Given the description of an element on the screen output the (x, y) to click on. 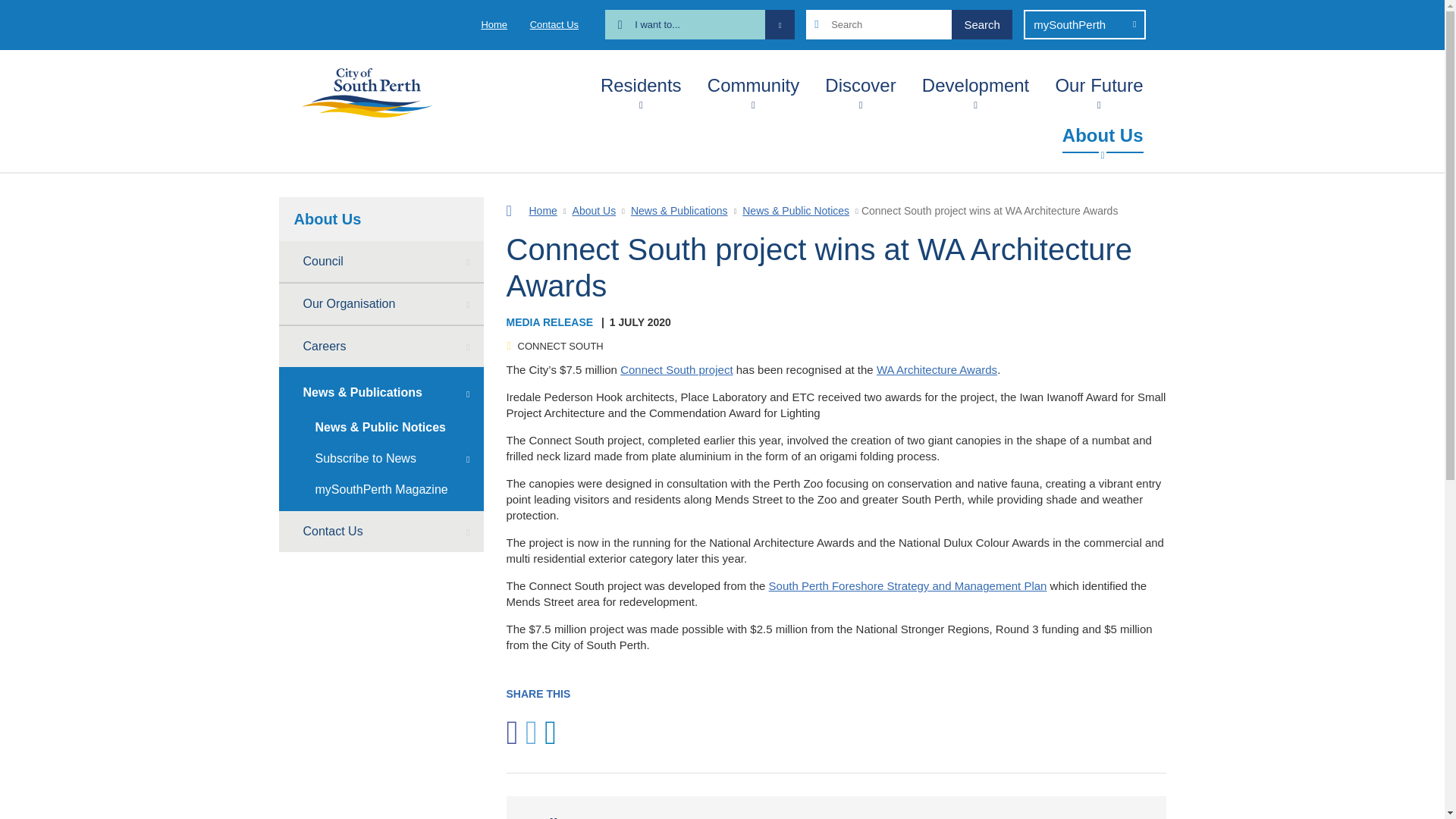
mySouthPerth (1084, 24)
Residents (640, 82)
Search input (908, 24)
Search (981, 24)
Home (493, 24)
Contact Us (553, 24)
